Given the description of an element on the screen output the (x, y) to click on. 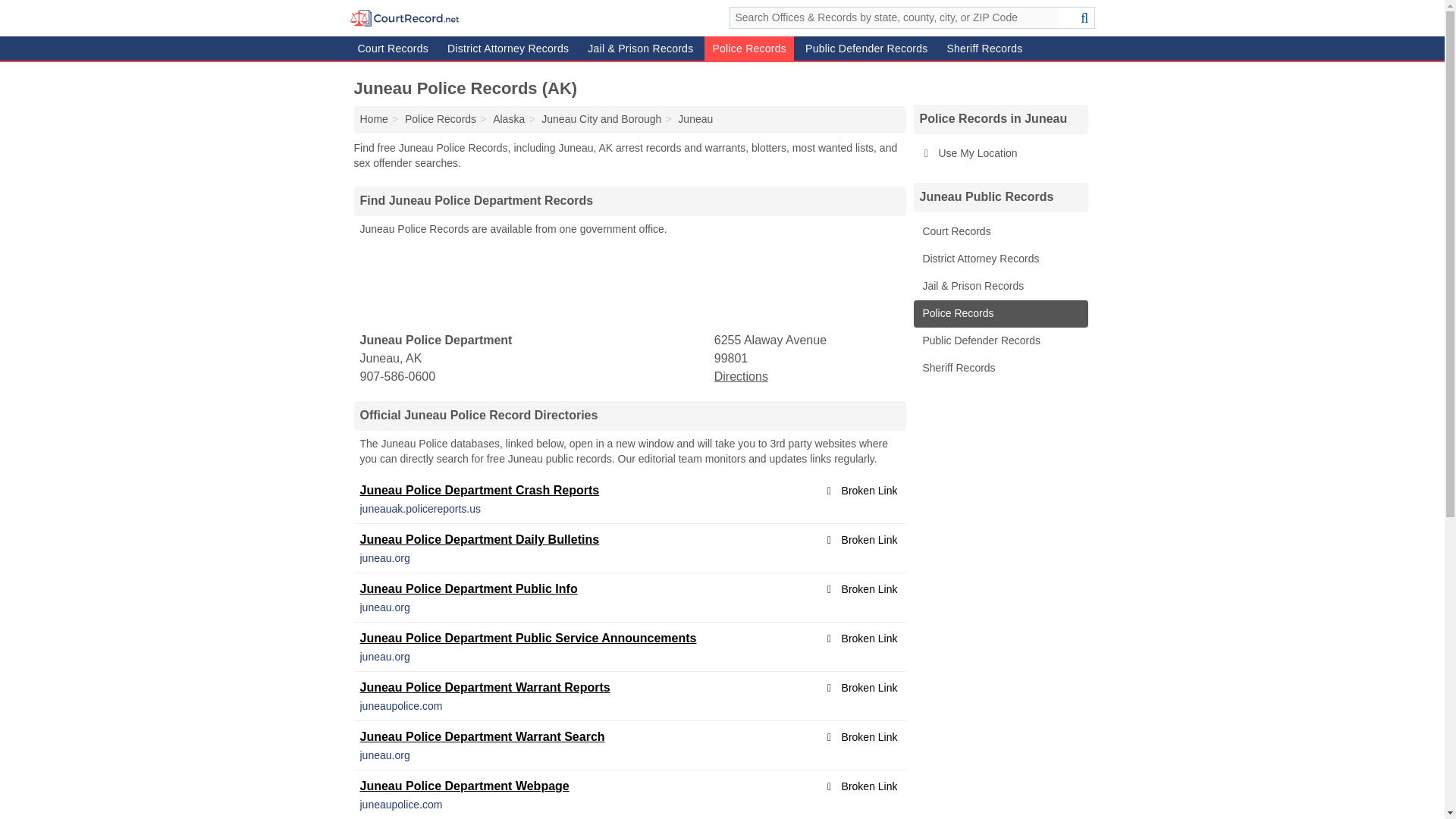
Sheriff Records (984, 48)
Court Record (373, 119)
District Attorney Records (507, 48)
Use My Location (999, 153)
Court Records (393, 48)
Juneau Police Department Warrant Search (481, 736)
Juneau Police Department Public Service Announcements (527, 637)
Directions (741, 376)
Juneau (695, 119)
Public Defender Records (865, 48)
Juneau Police Department Crash Reports (478, 490)
Juneau Police Department Daily Bulletins (478, 539)
Juneau Police Department Warrant Reports (484, 686)
Juneau Police Department Public Info (467, 588)
Home (373, 119)
